Given the description of an element on the screen output the (x, y) to click on. 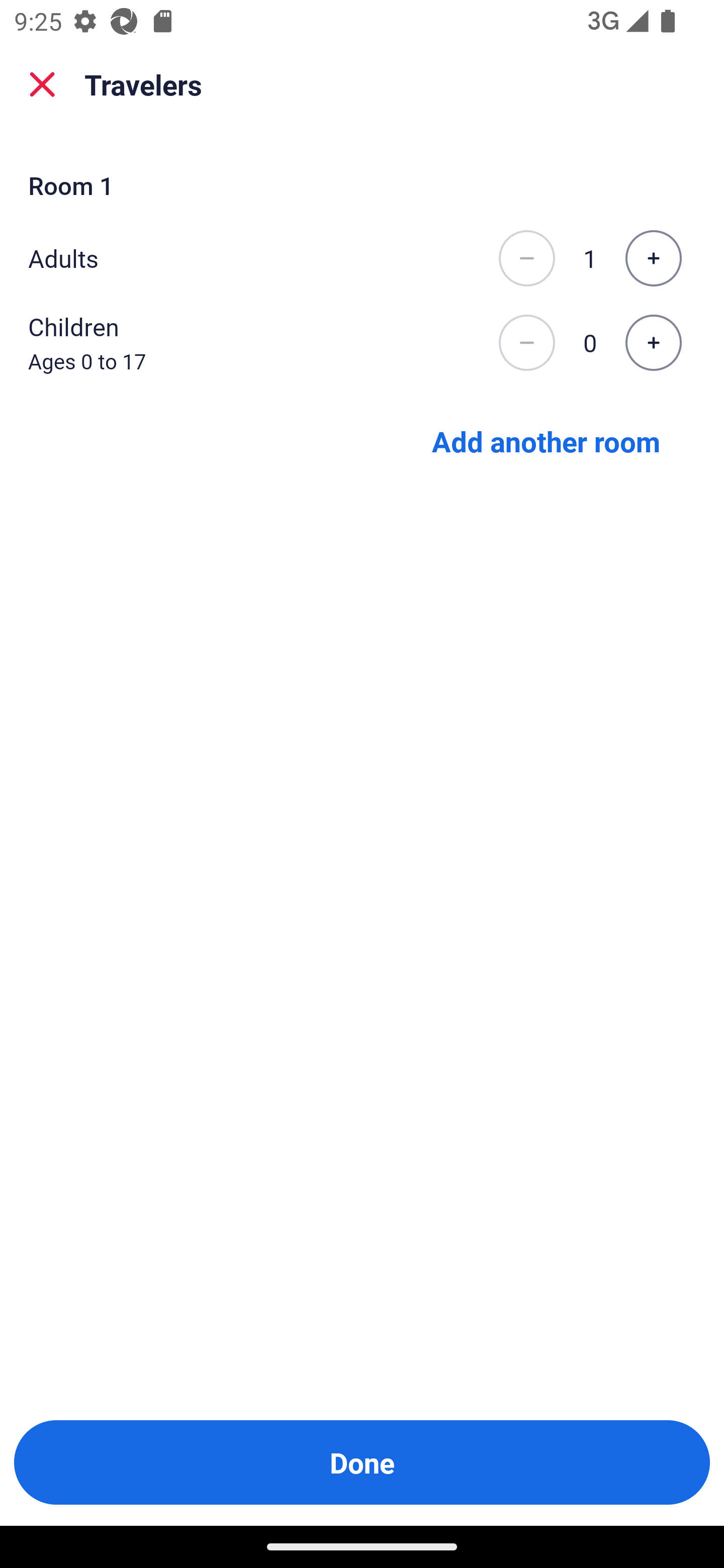
close (42, 84)
Decrease the number of adults (526, 258)
Increase the number of adults (653, 258)
Decrease the number of children (526, 343)
Increase the number of children (653, 343)
Add another room (545, 440)
Done (361, 1462)
